Given the description of an element on the screen output the (x, y) to click on. 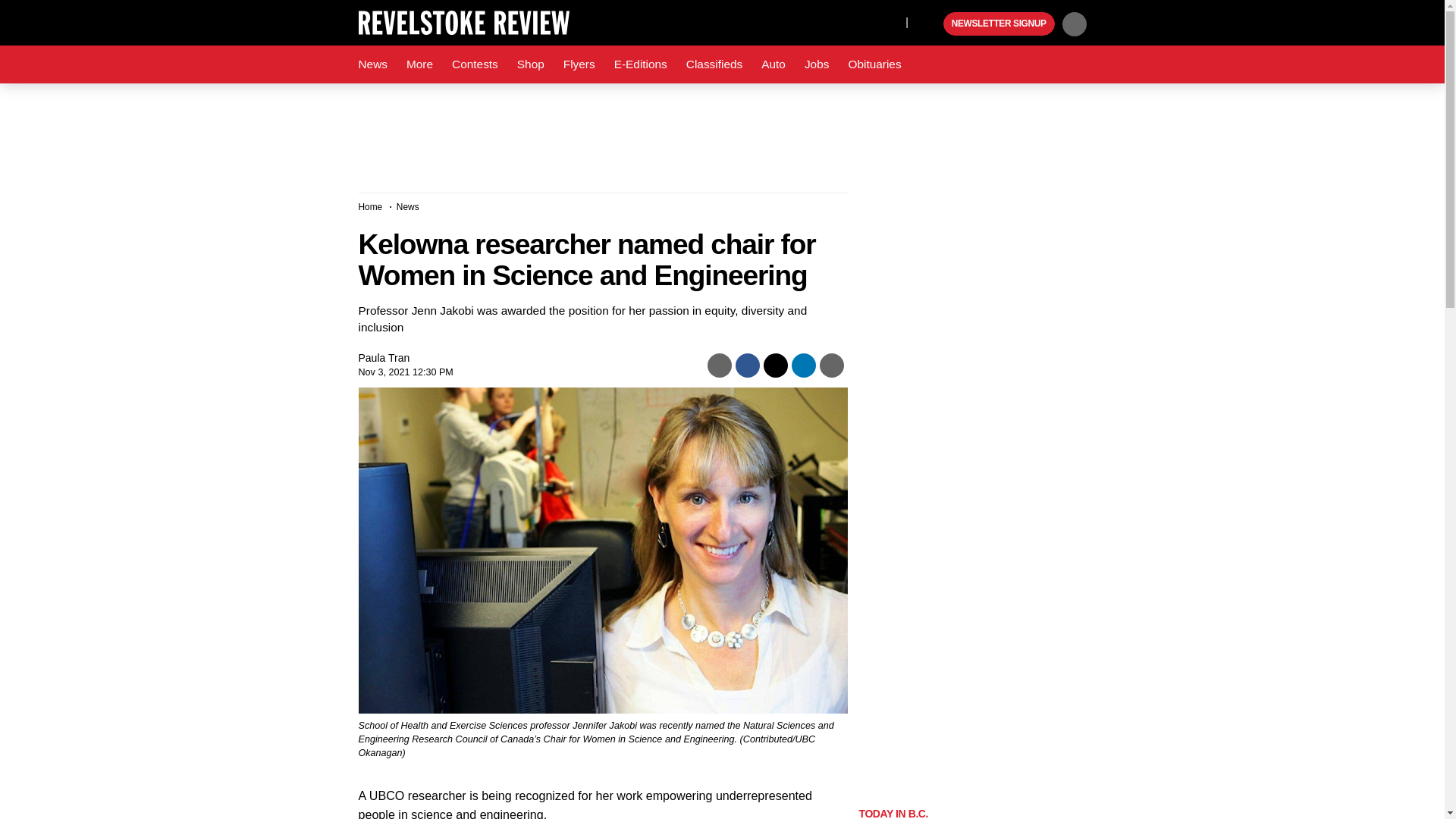
NEWSLETTER SIGNUP (998, 24)
Black Press Media (929, 24)
Play (929, 24)
X (889, 21)
News (372, 64)
